Given the description of an element on the screen output the (x, y) to click on. 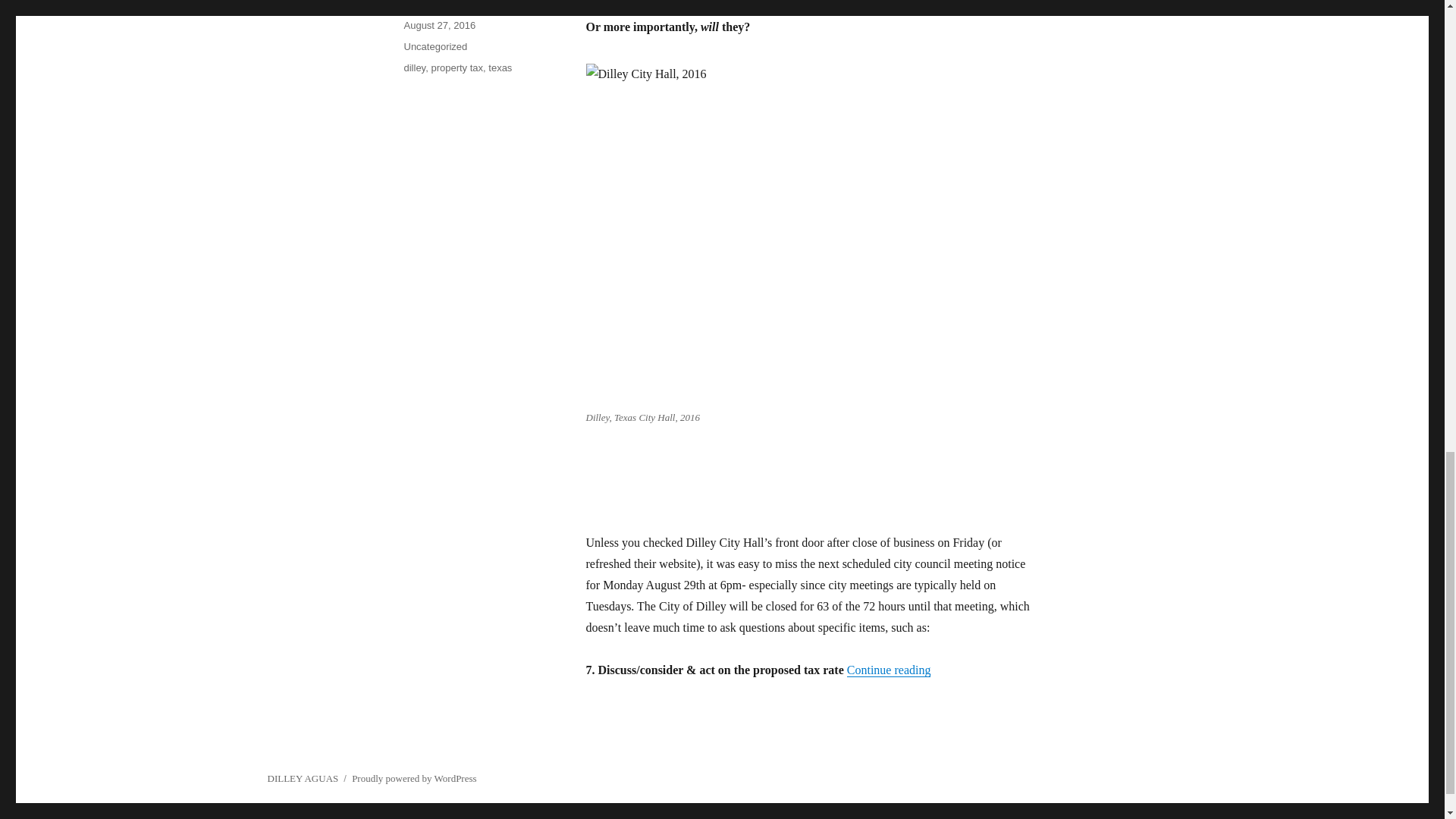
Uncategorized (435, 46)
Proudly powered by WordPress (414, 778)
dilley (414, 67)
texas (499, 67)
property tax (456, 67)
DILLEY AGUAS (301, 778)
August 27, 2016 (439, 25)
